Given the description of an element on the screen output the (x, y) to click on. 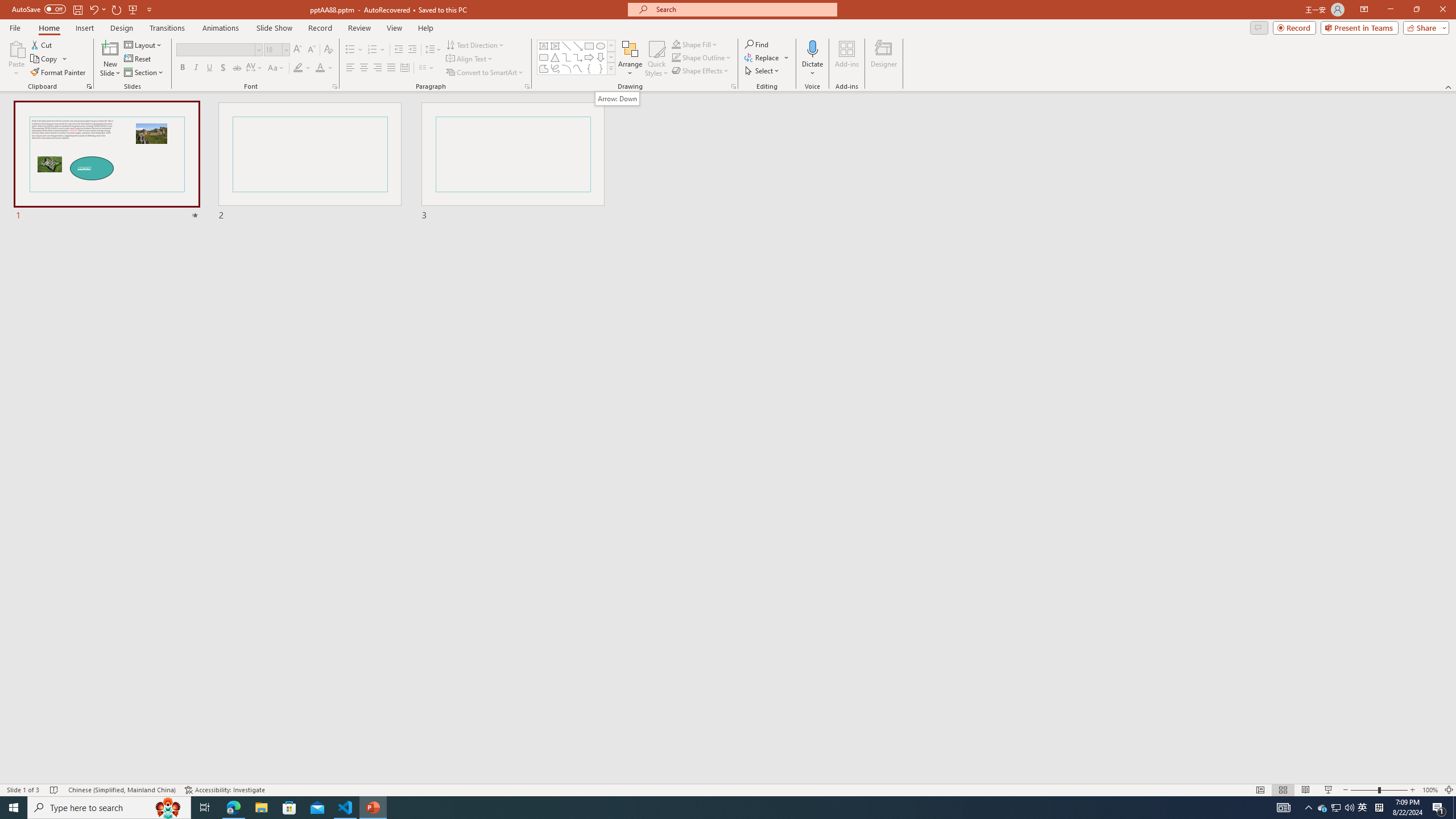
Reset (138, 58)
Connector: Elbow Arrow (577, 57)
Bold (182, 67)
Arrange (630, 58)
Rectangle (589, 45)
Increase Indent (412, 49)
Text Highlight Color (302, 67)
Character Spacing (254, 67)
Arrow: Down (600, 57)
